Given the description of an element on the screen output the (x, y) to click on. 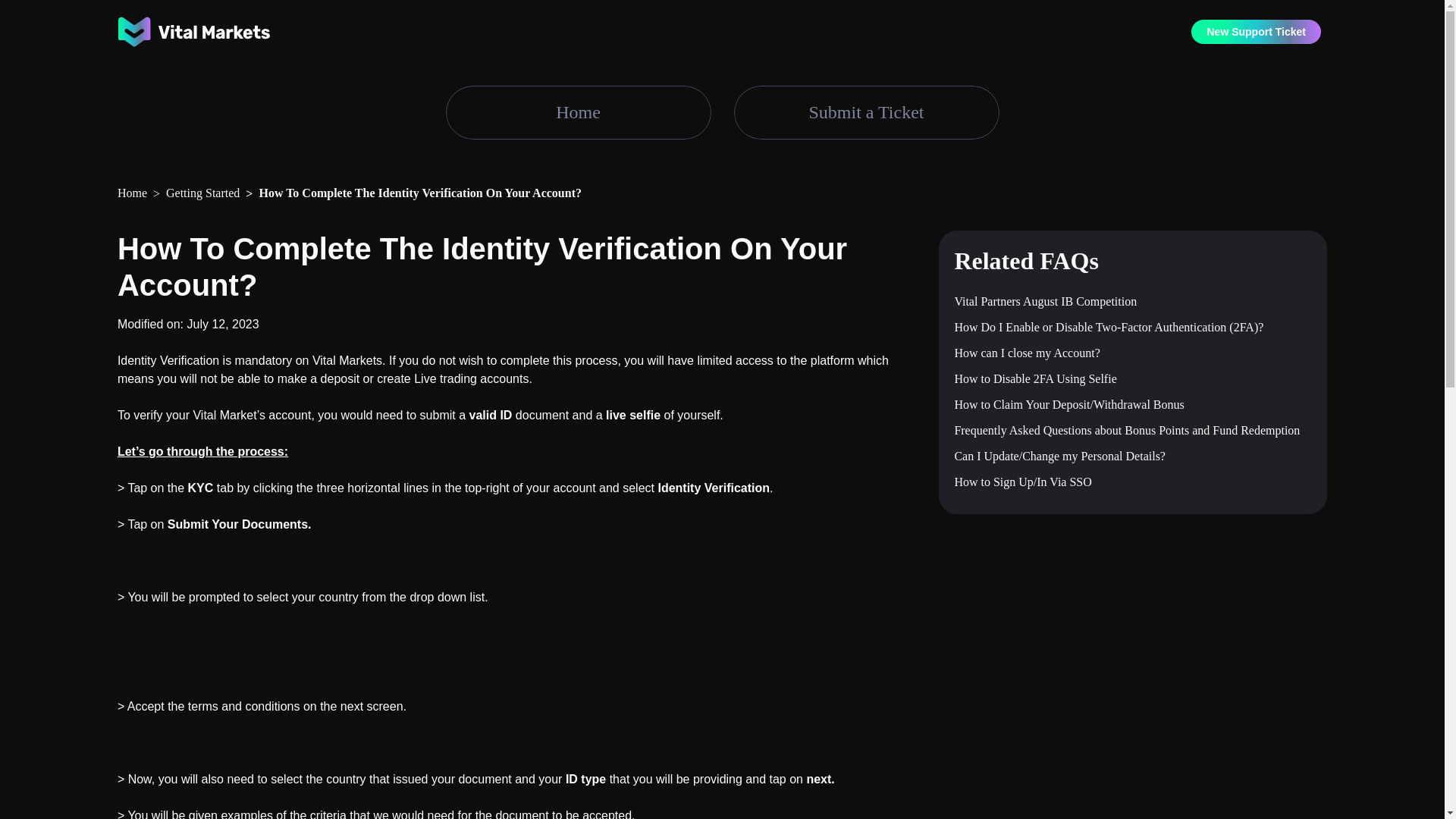
New Support Ticket (1255, 31)
